Given the description of an element on the screen output the (x, y) to click on. 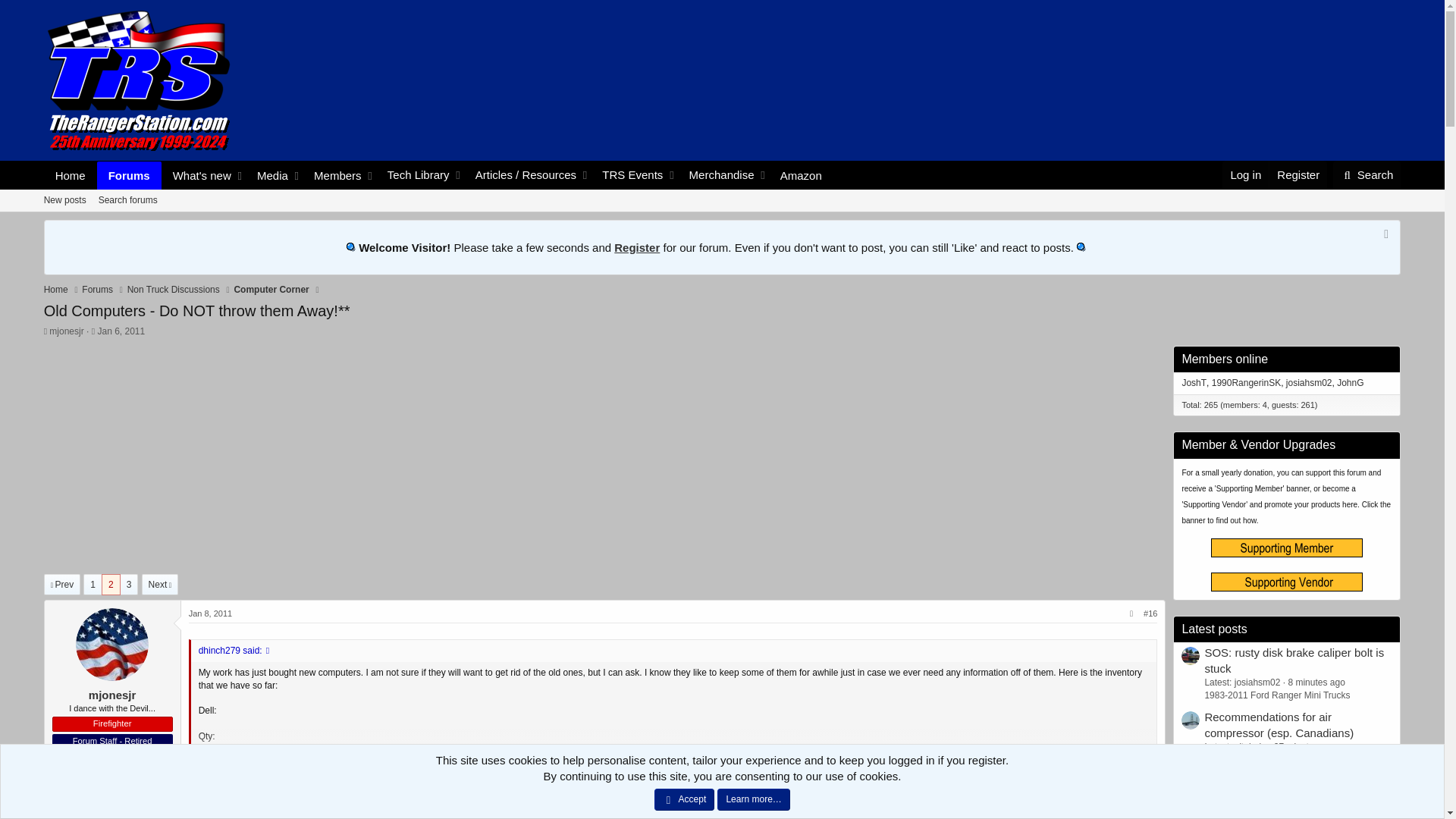
Members (333, 175)
Search (1366, 174)
Tech Library (419, 174)
Media (268, 175)
Jan 6, 2011 at 10:24 AM (120, 330)
Home (722, 217)
What's new (70, 175)
Forums (197, 175)
Jan 8, 2011 at 9:45 AM (129, 175)
Advertisement (210, 613)
